Given the description of an element on the screen output the (x, y) to click on. 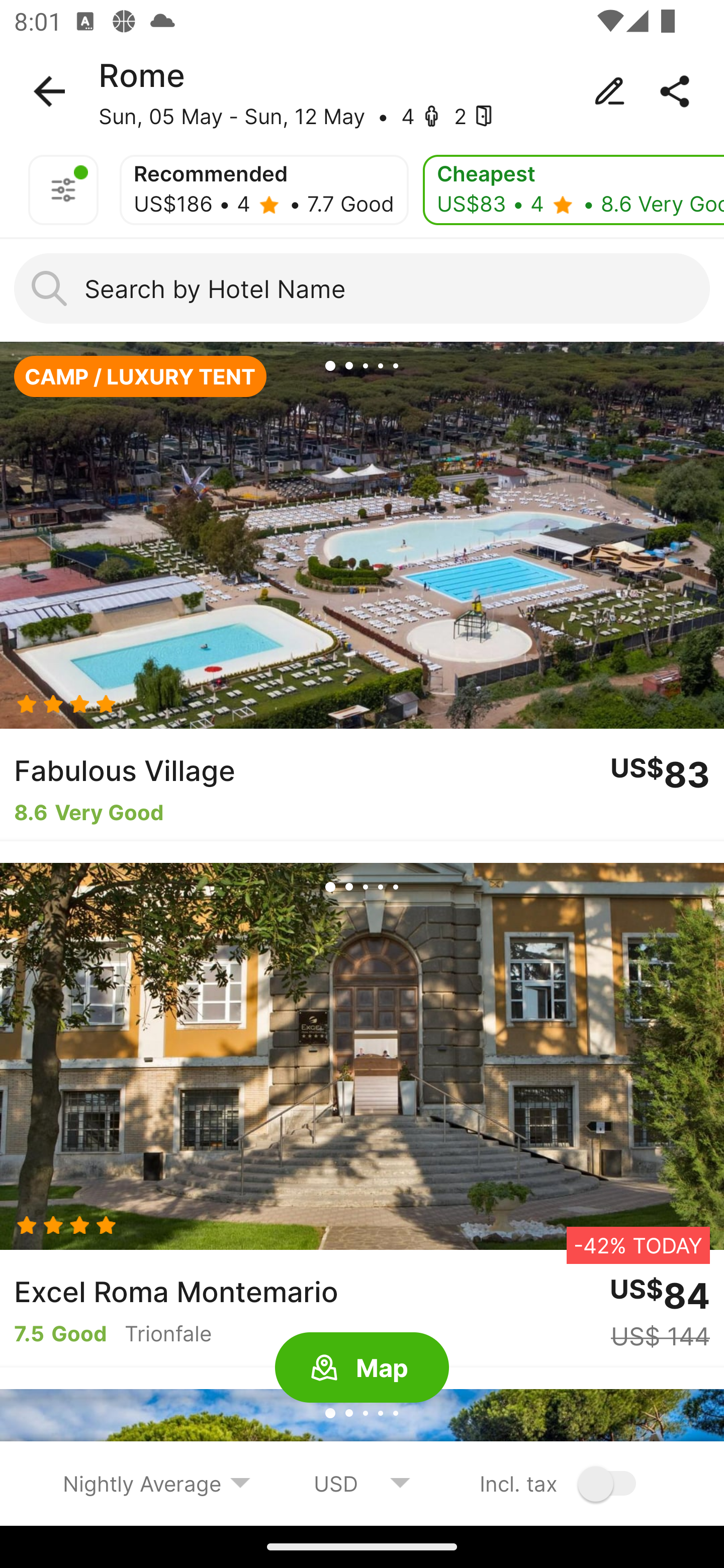
Rome Sun, 05 May - Sun, 12 May  •  4 -  2 - (361, 91)
Recommended  US$186  • 4 - • 7.7 Good (264, 190)
Cheapest US$83  • 4 - • 8.6 Very Good (573, 190)
Search by Hotel Name  (361, 288)
Map  (361, 1367)
Nightly Average (156, 1482)
USD (361, 1482)
